Given the description of an element on the screen output the (x, y) to click on. 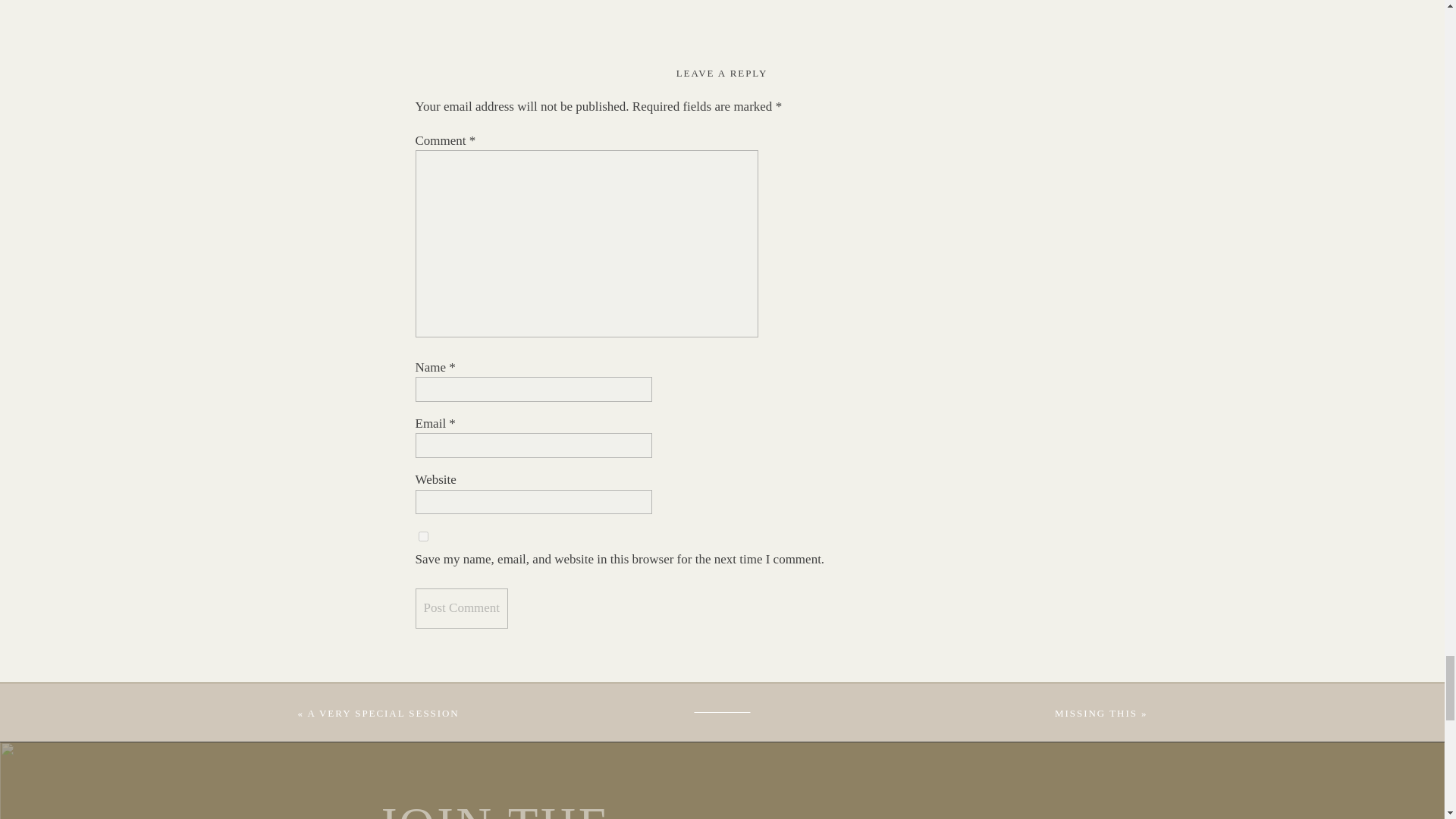
MISSING THIS (1095, 713)
Post Comment (461, 608)
yes (423, 536)
A VERY SPECIAL SESSION (382, 713)
Post Comment (461, 608)
